Given the description of an element on the screen output the (x, y) to click on. 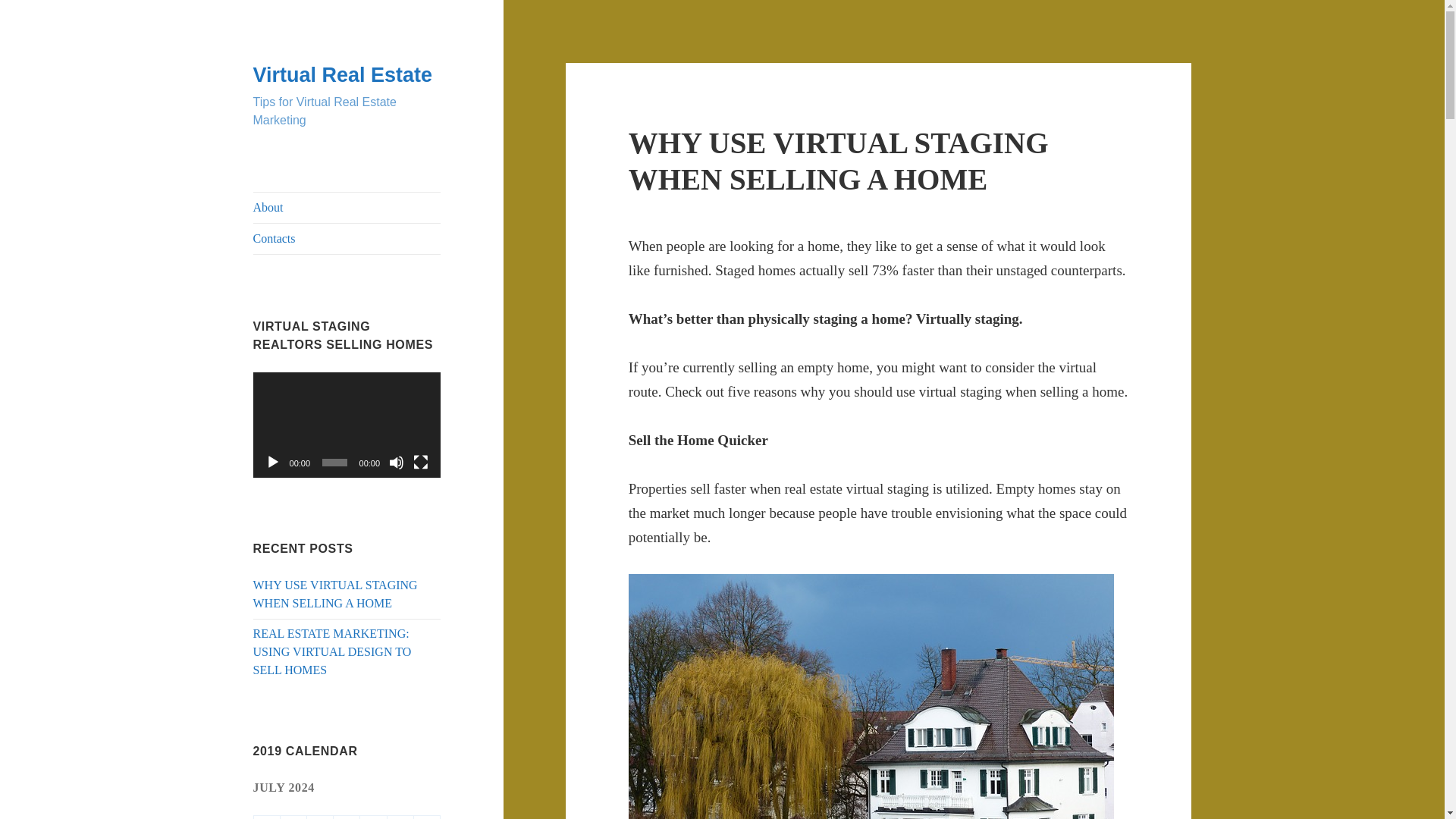
Thursday (346, 817)
Play (272, 462)
Friday (373, 817)
About (347, 207)
Mute (396, 462)
Wednesday (320, 817)
Sunday (427, 817)
WHY USE VIRTUAL STAGING WHEN SELLING A HOME (335, 593)
Monday (267, 817)
Saturday (400, 817)
Virtual Real Estate (342, 74)
Fullscreen (420, 462)
WHY USE VIRTUAL STAGING WHEN SELLING A HOME (838, 160)
Contacts (347, 238)
REAL ESTATE MARKETING: USING VIRTUAL DESIGN TO SELL HOMES (332, 651)
